Given the description of an element on the screen output the (x, y) to click on. 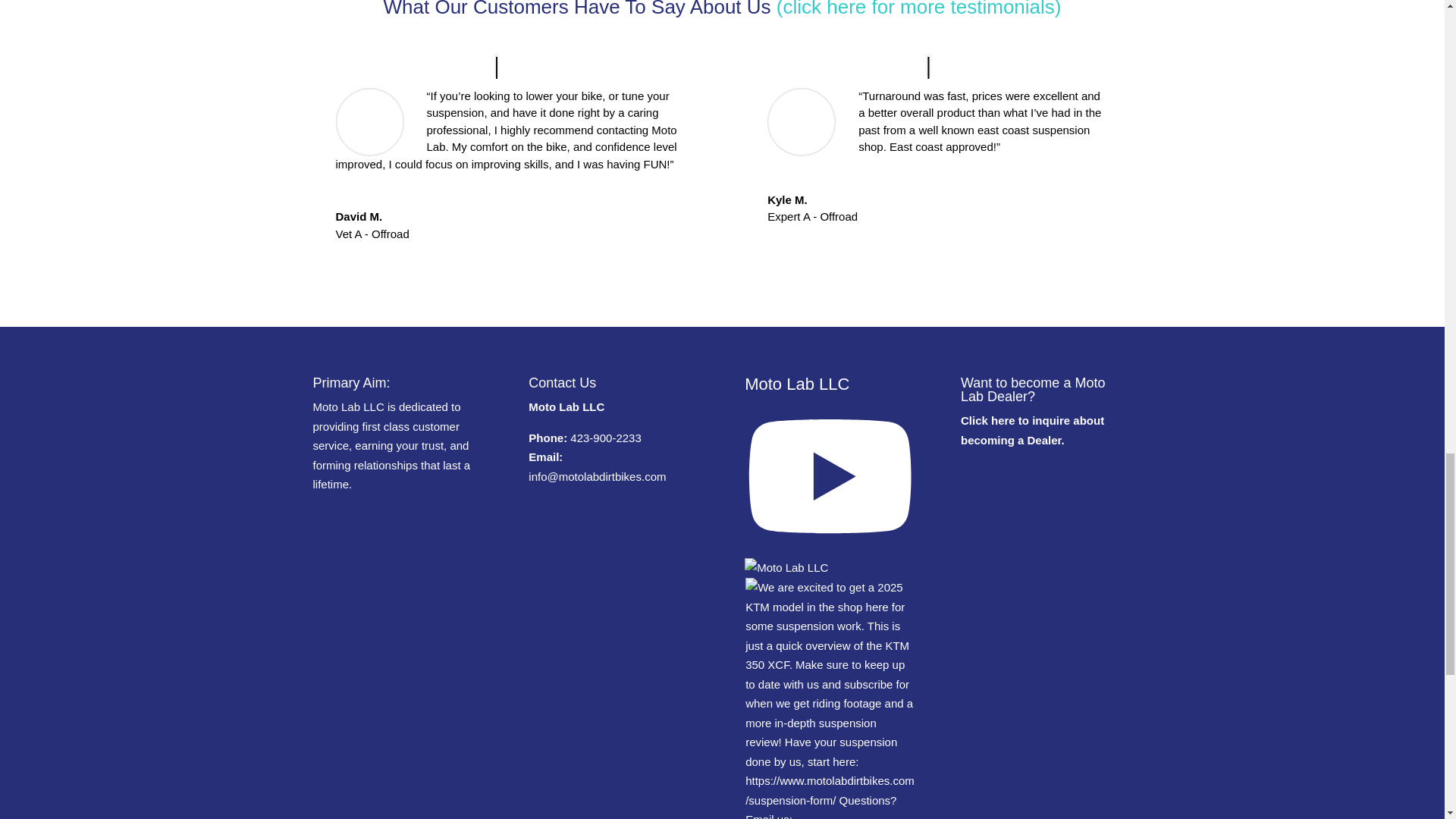
Click here to inquire about becoming a Dealer. (1031, 430)
423-900-2233 (605, 437)
